Given the description of an element on the screen output the (x, y) to click on. 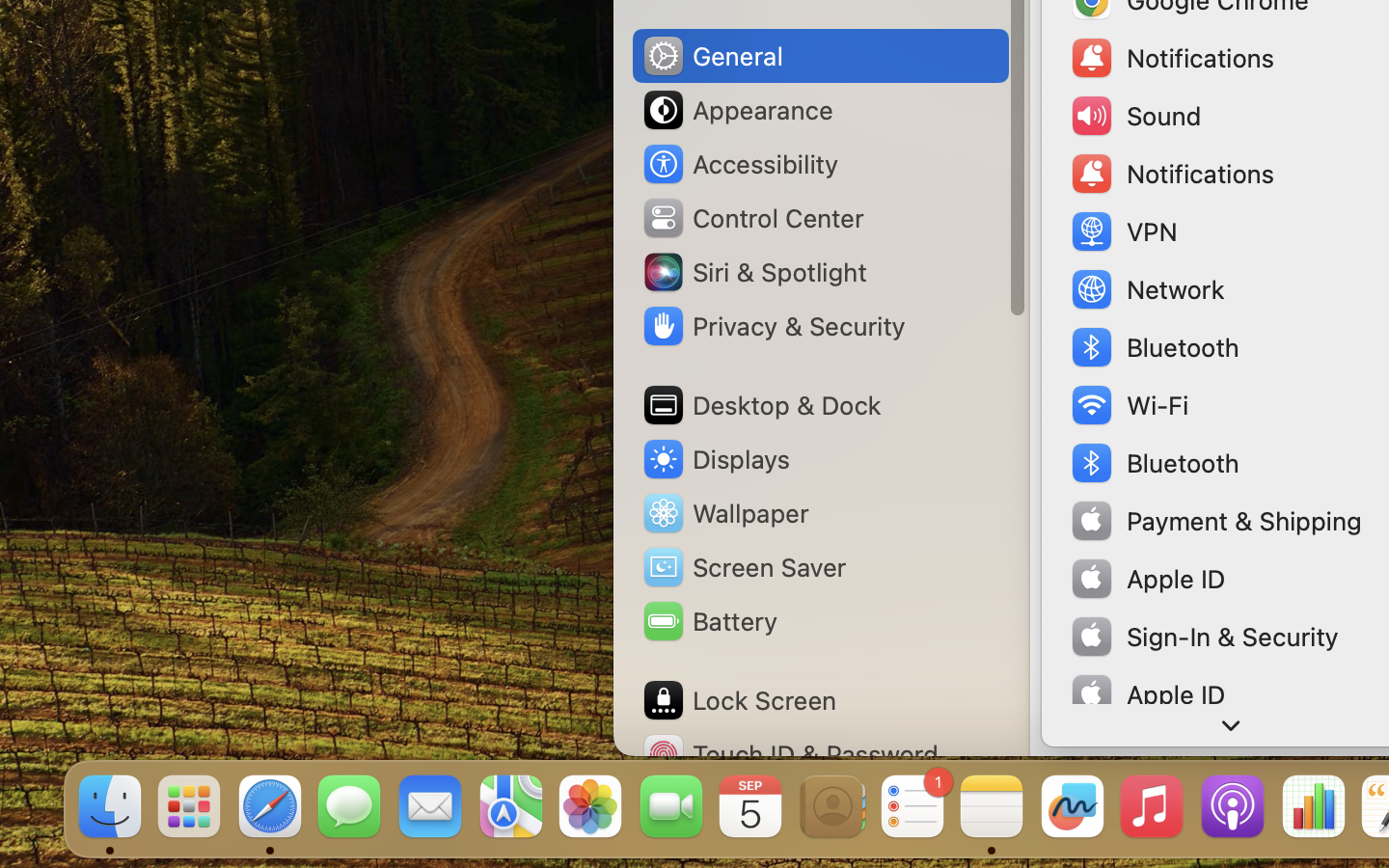
Lock Screen Element type: AXStaticText (738, 700)
General Element type: AXStaticText (711, 55)
Screen Saver Element type: AXStaticText (743, 566)
Privacy & Security Element type: AXStaticText (772, 325)
Accessibility Element type: AXStaticText (739, 163)
